Given the description of an element on the screen output the (x, y) to click on. 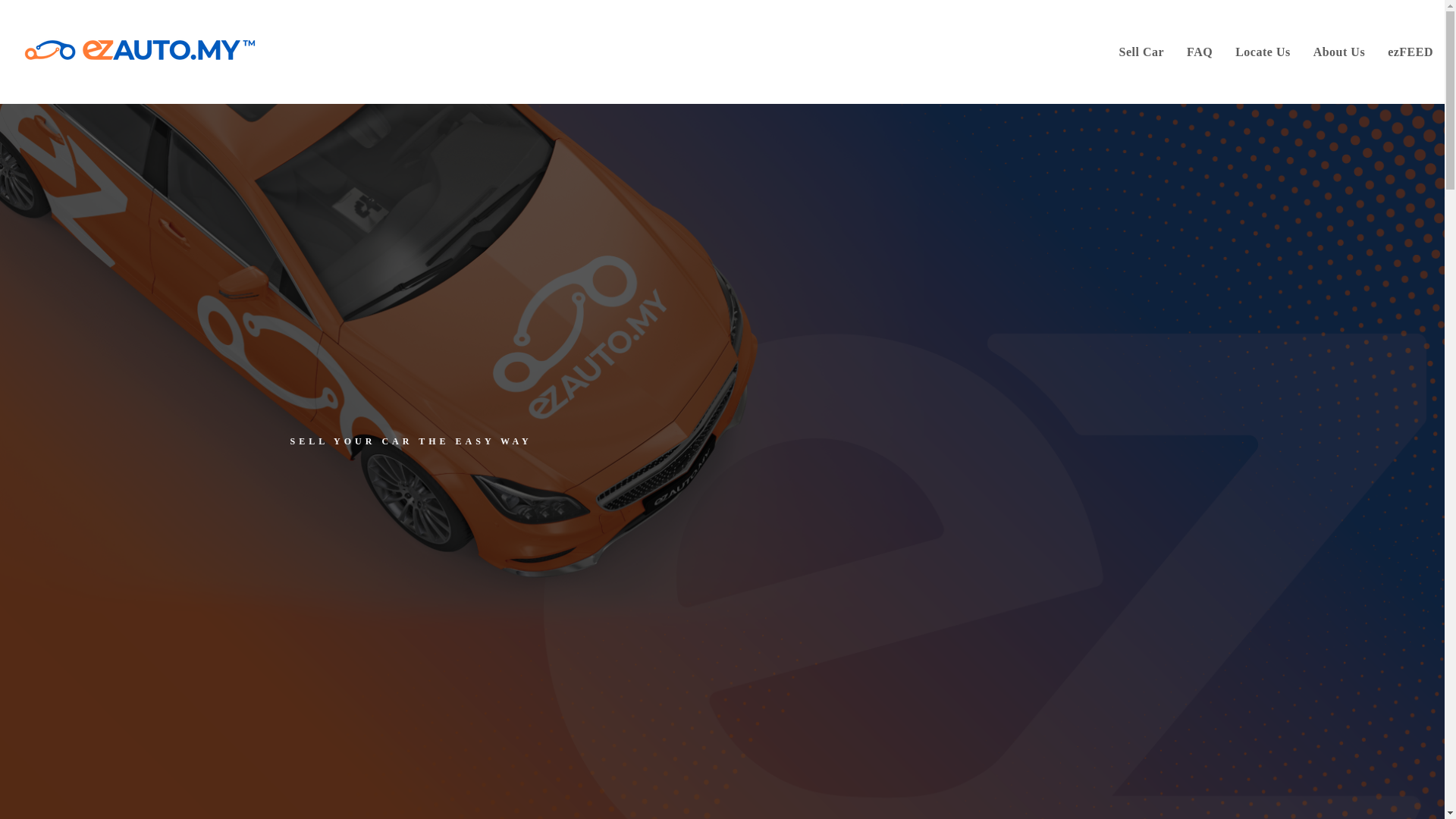
FAQ (1199, 51)
Locate Us (1262, 51)
Sell Car (1142, 51)
About Us (1338, 51)
